Given the description of an element on the screen output the (x, y) to click on. 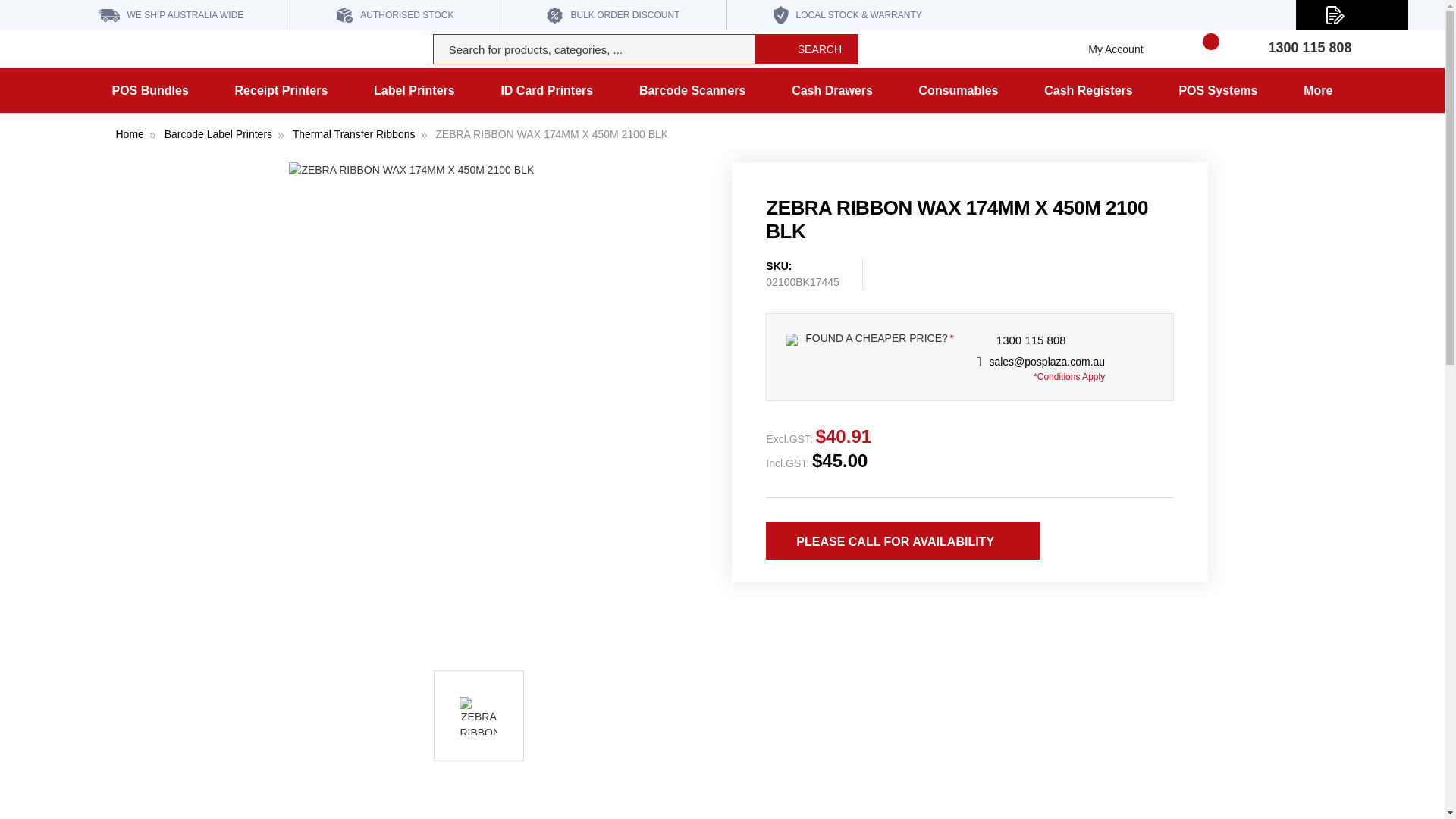
POS Bundles (149, 90)
1300 115 808 (1309, 47)
Search (806, 49)
Receipt Printers (281, 90)
My Account (1111, 49)
Label Printers (414, 90)
Search (806, 49)
